Given the description of an element on the screen output the (x, y) to click on. 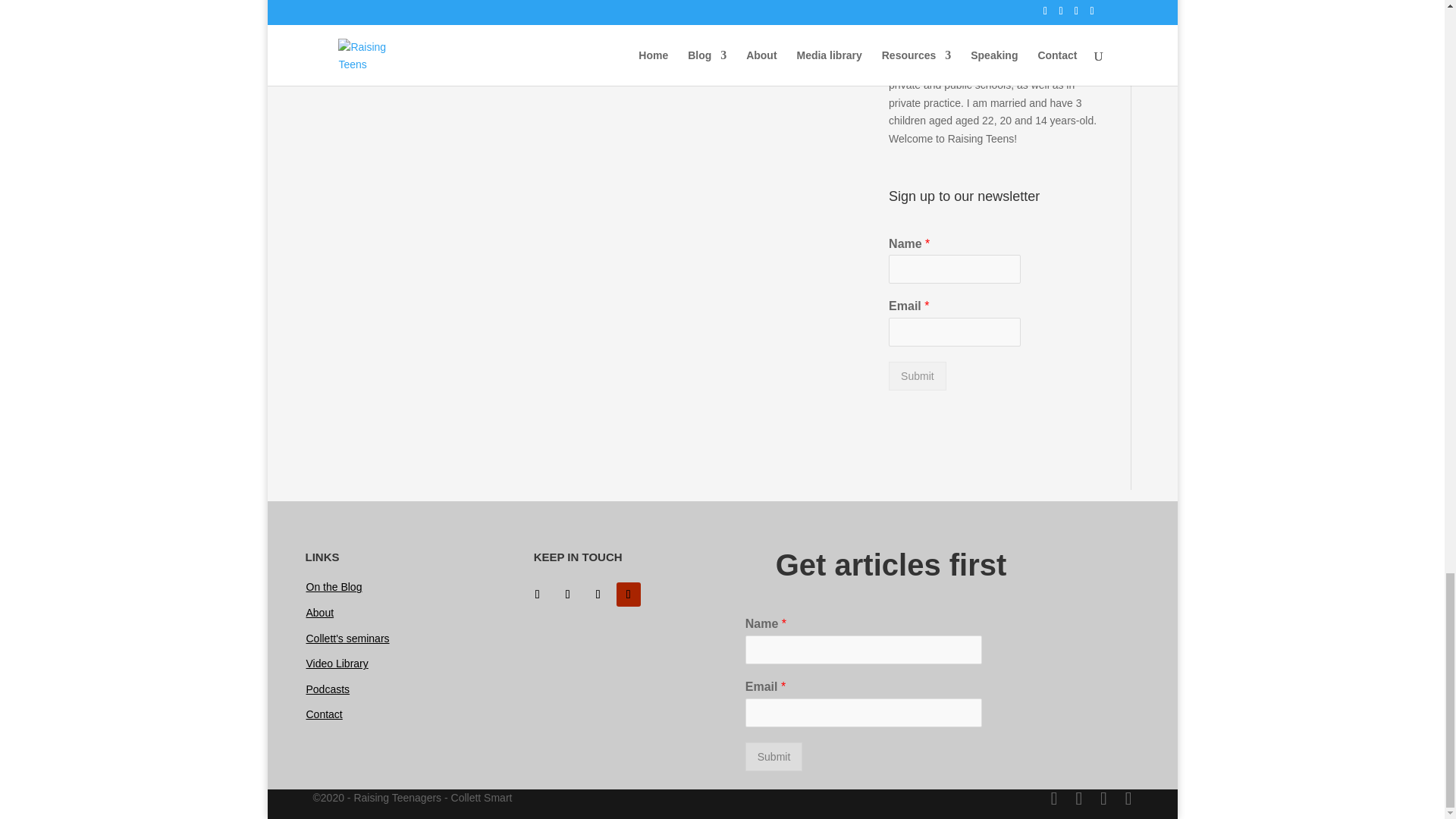
Follow on Twitter (567, 594)
Follow on Facebook (537, 594)
